Given the description of an element on the screen output the (x, y) to click on. 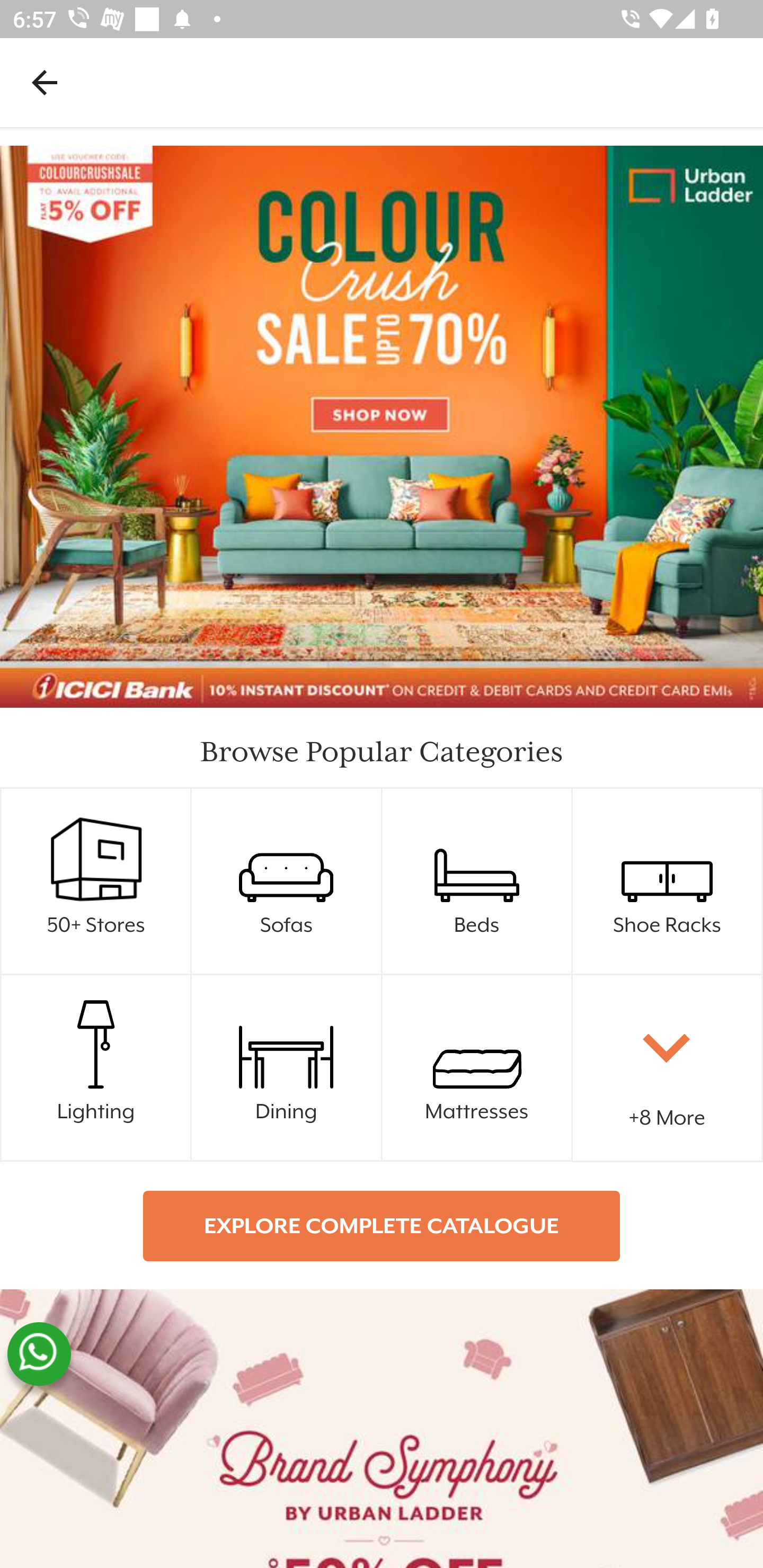
Navigate up (44, 82)
event sale (381, 426)
50+ Stores 50+ Stores 50+ Stores 50+ Stores (96, 881)
Sofas (286, 881)
Beds (477, 881)
Shoe Racks (667, 881)
Lighting (96, 1067)
Dining (286, 1067)
Mattresses (477, 1067)
+8 More (667, 1068)
EXPLORE COMPLETE CATALOGUE (381, 1226)
vmi brand symphony (381, 1428)
vmi brand symphony (381, 1428)
whatsapp (38, 1353)
